Given the description of an element on the screen output the (x, y) to click on. 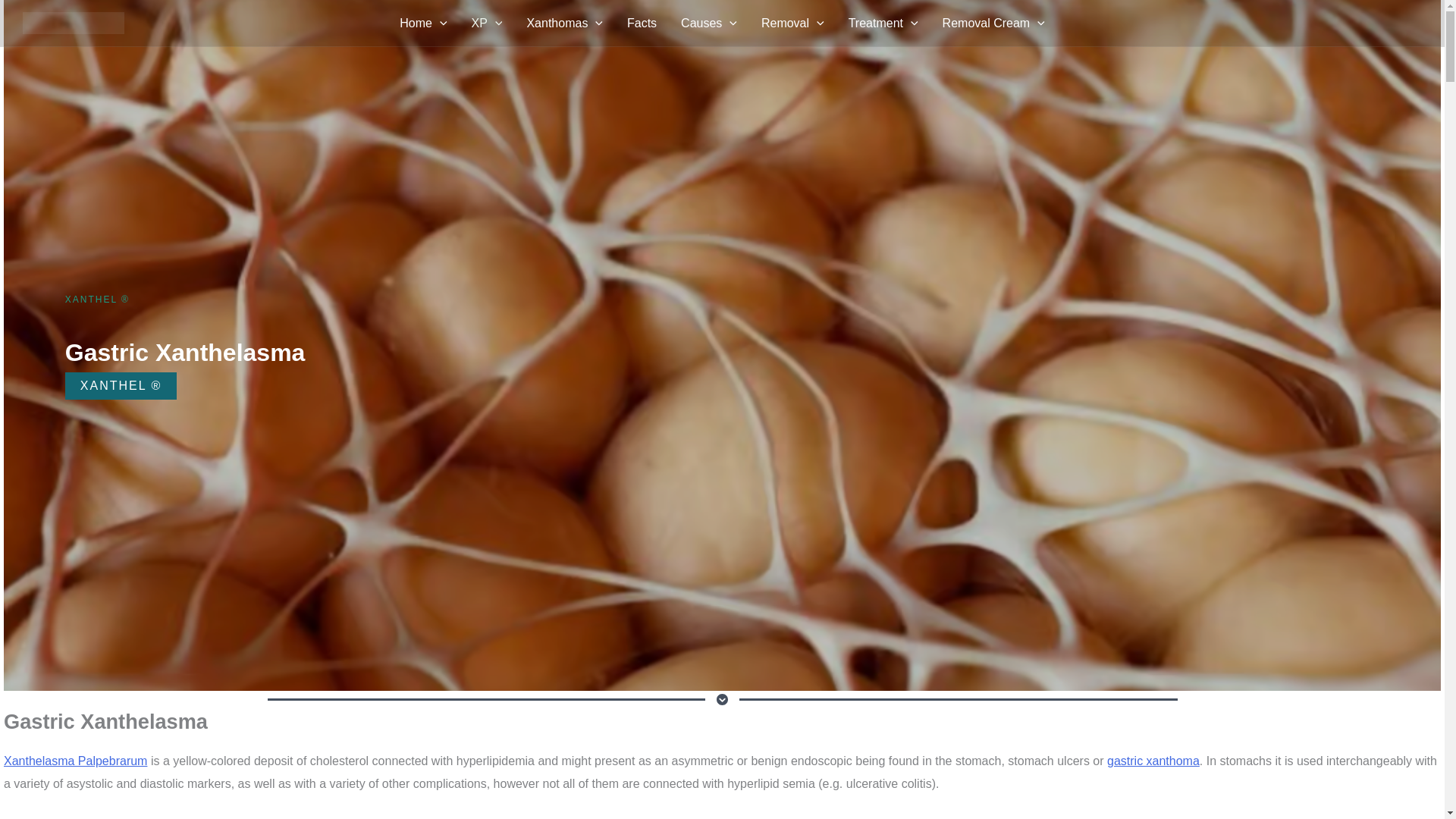
Xanthomas (563, 23)
Home (422, 23)
Facts (641, 23)
XP (487, 23)
Causes (708, 23)
Removal (792, 23)
